Given the description of an element on the screen output the (x, y) to click on. 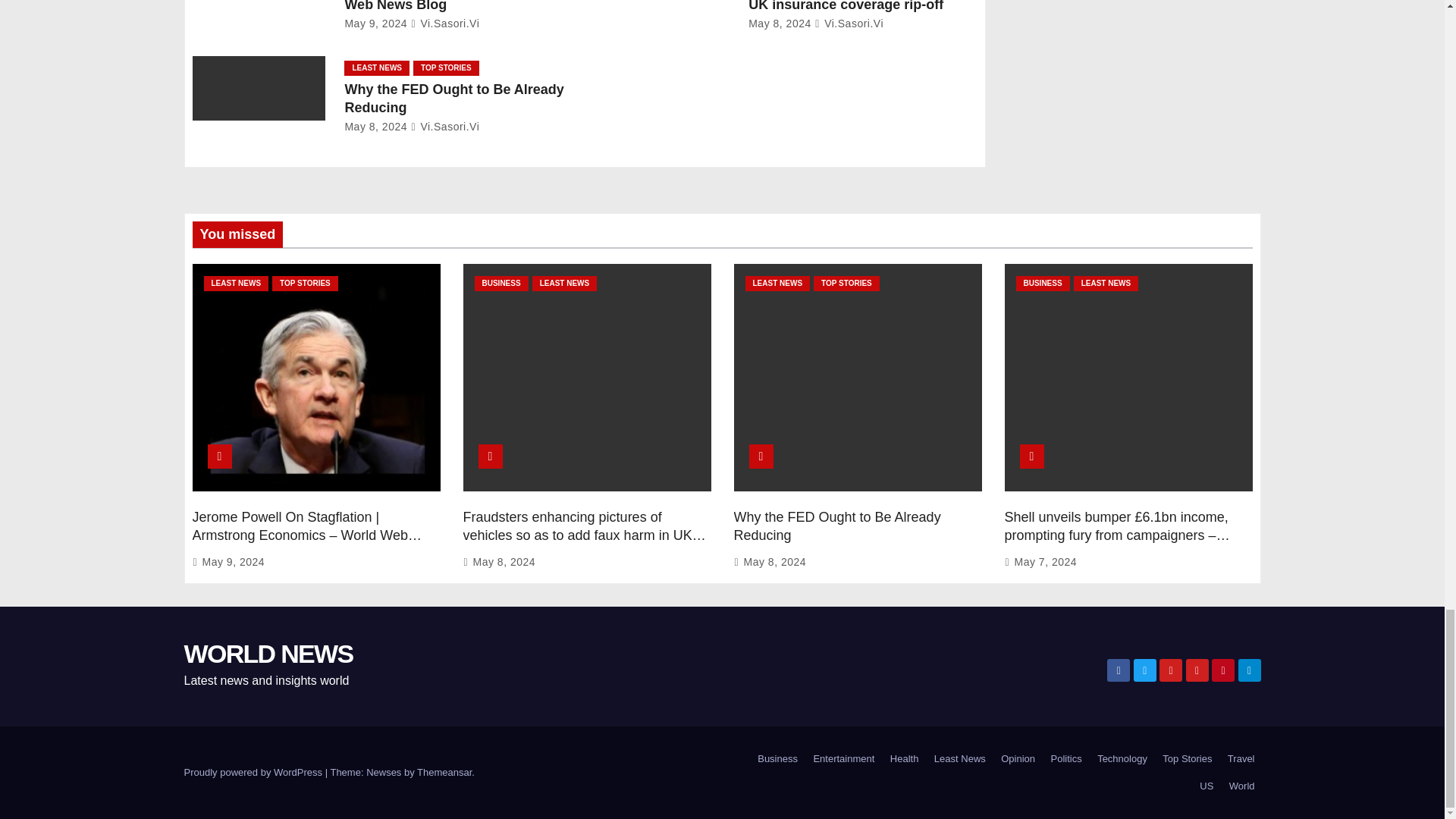
Permalink to: Why the FED Ought to Be Already Reducing (836, 525)
Permalink to: Why the FED Ought to Be Already Reducing (453, 98)
